Given the description of an element on the screen output the (x, y) to click on. 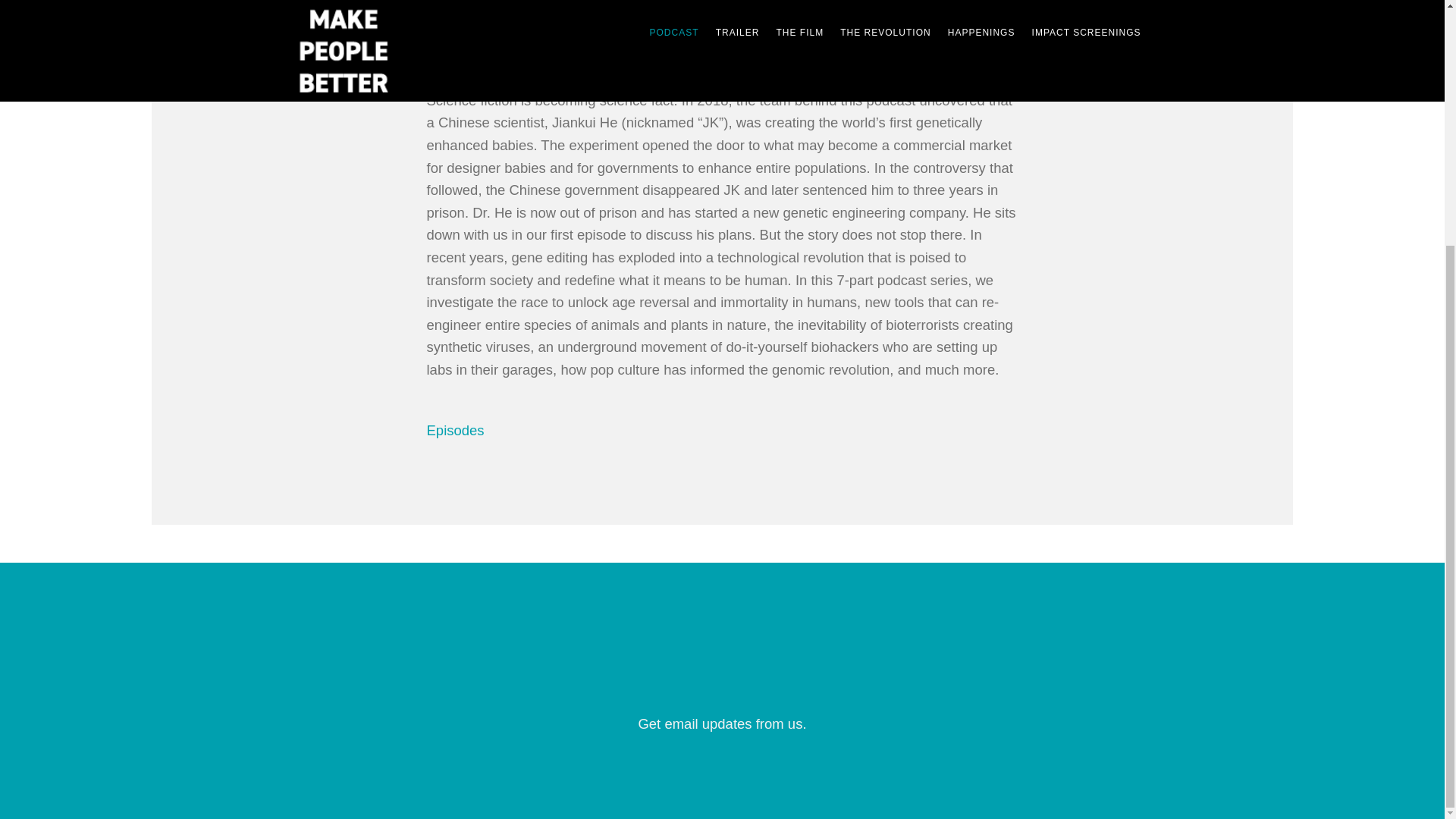
Episodes (454, 429)
